Given the description of an element on the screen output the (x, y) to click on. 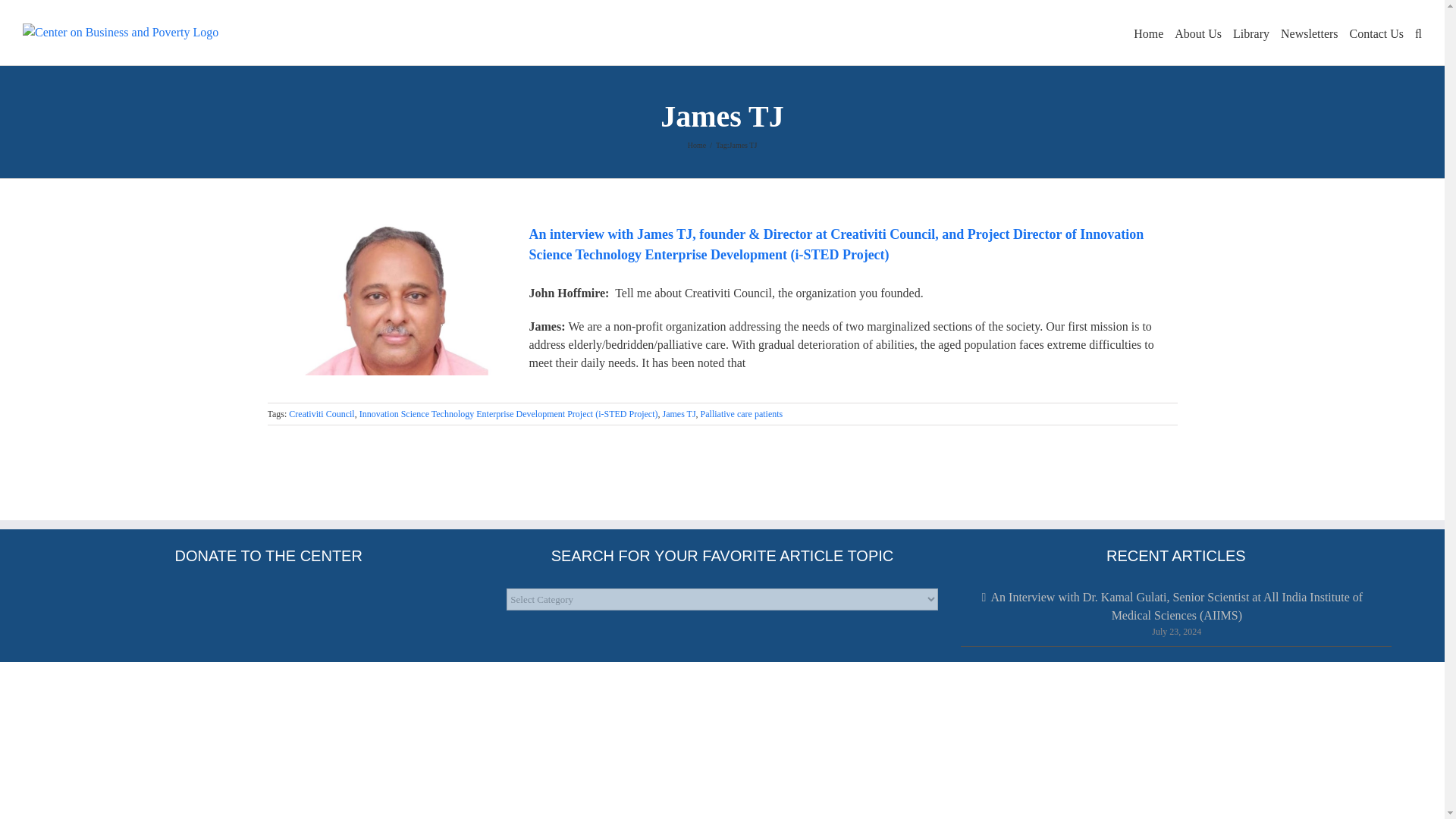
Newsletters (1309, 31)
Home (696, 144)
Creativiti Council (320, 413)
